Given the description of an element on the screen output the (x, y) to click on. 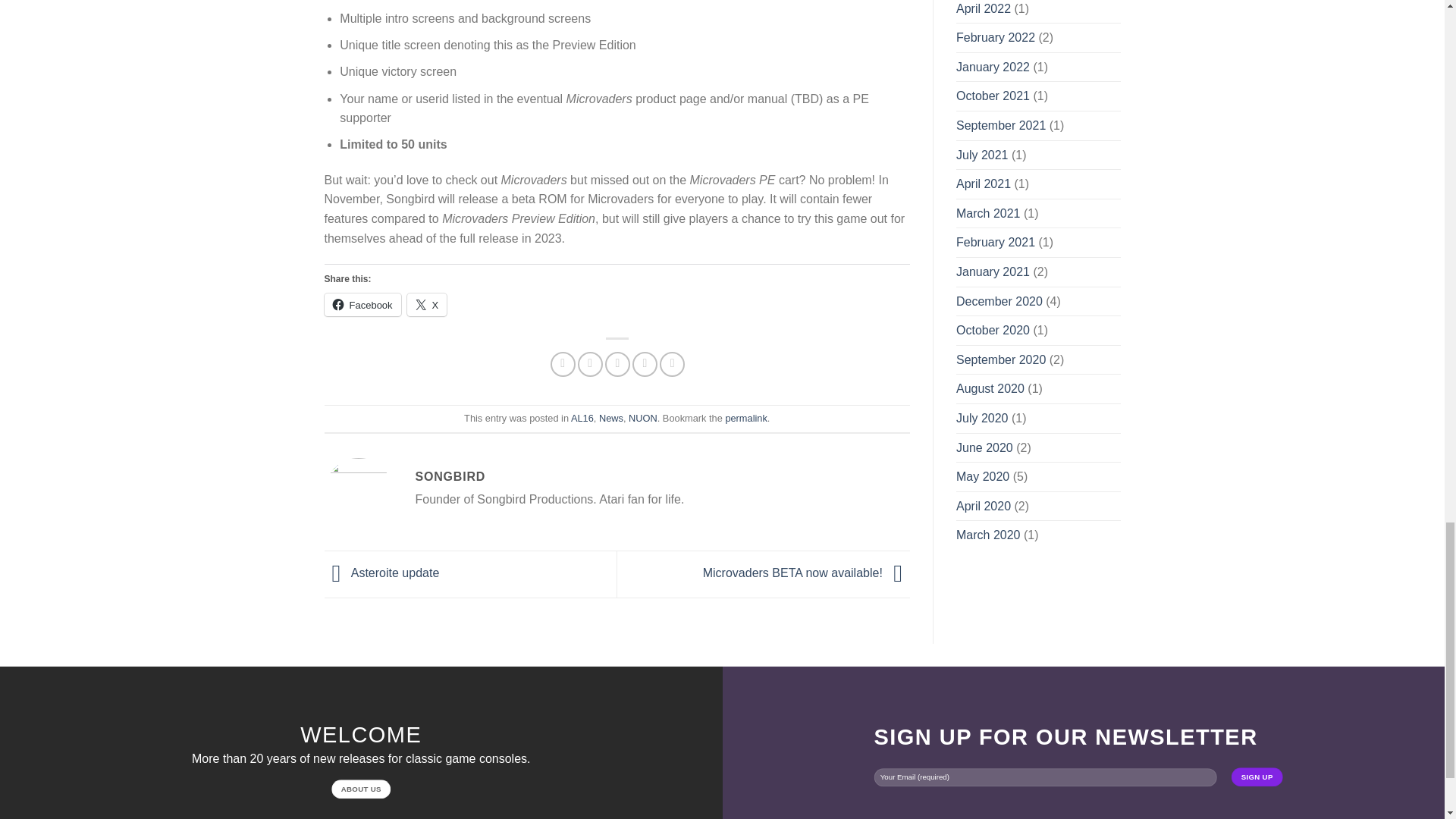
Sign Up (1256, 776)
Click to share on X (426, 304)
X (426, 304)
Share on Twitter (590, 364)
Share on Facebook (562, 364)
Click to share on Facebook (362, 304)
Facebook (362, 304)
